Given the description of an element on the screen output the (x, y) to click on. 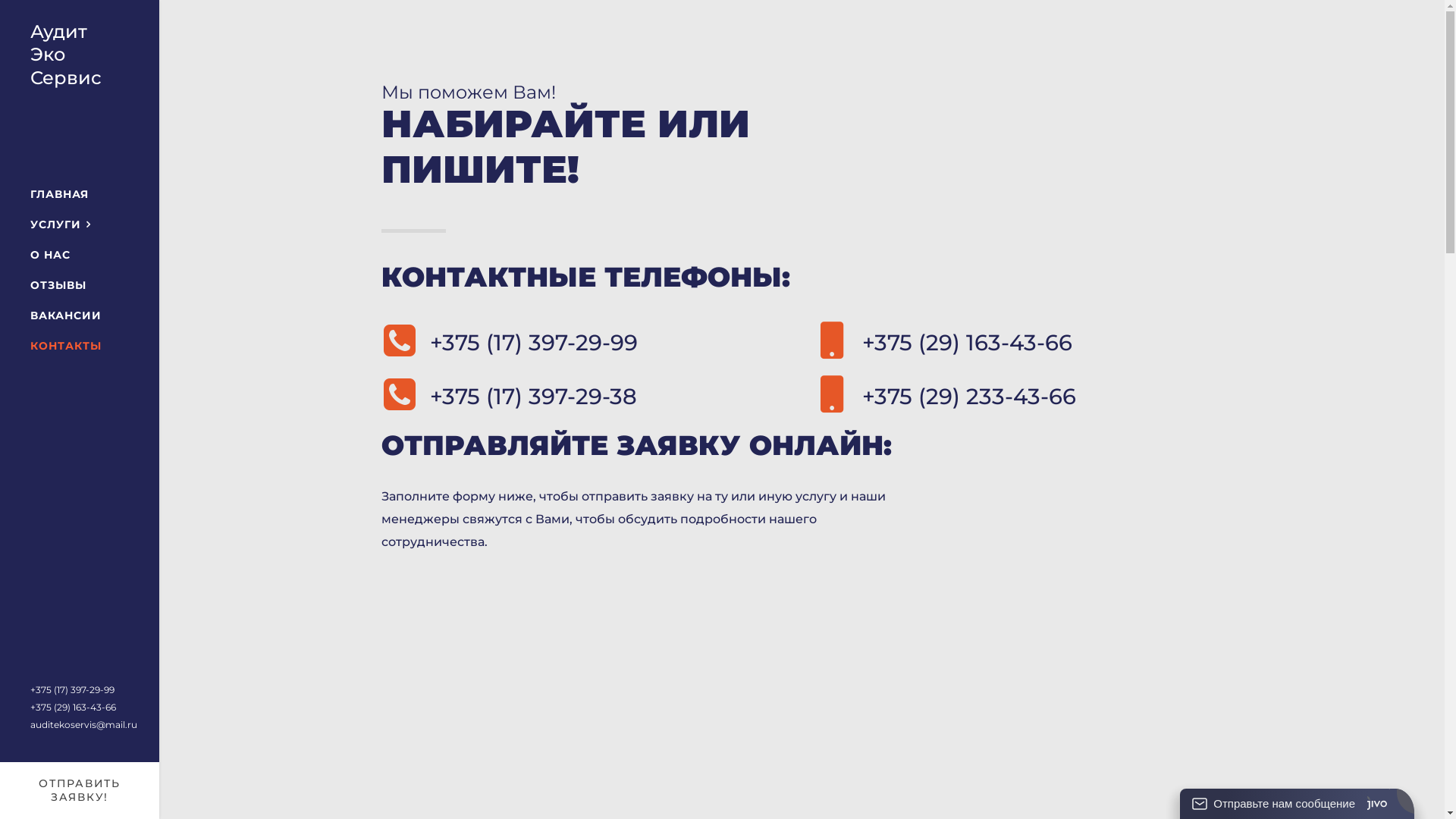
+375 (17) 397-29-99 Element type: text (72, 689)
+375 (29) 163-43-66 Element type: text (73, 706)
auditekoservis@mail.ru Element type: text (83, 724)
